Given the description of an element on the screen output the (x, y) to click on. 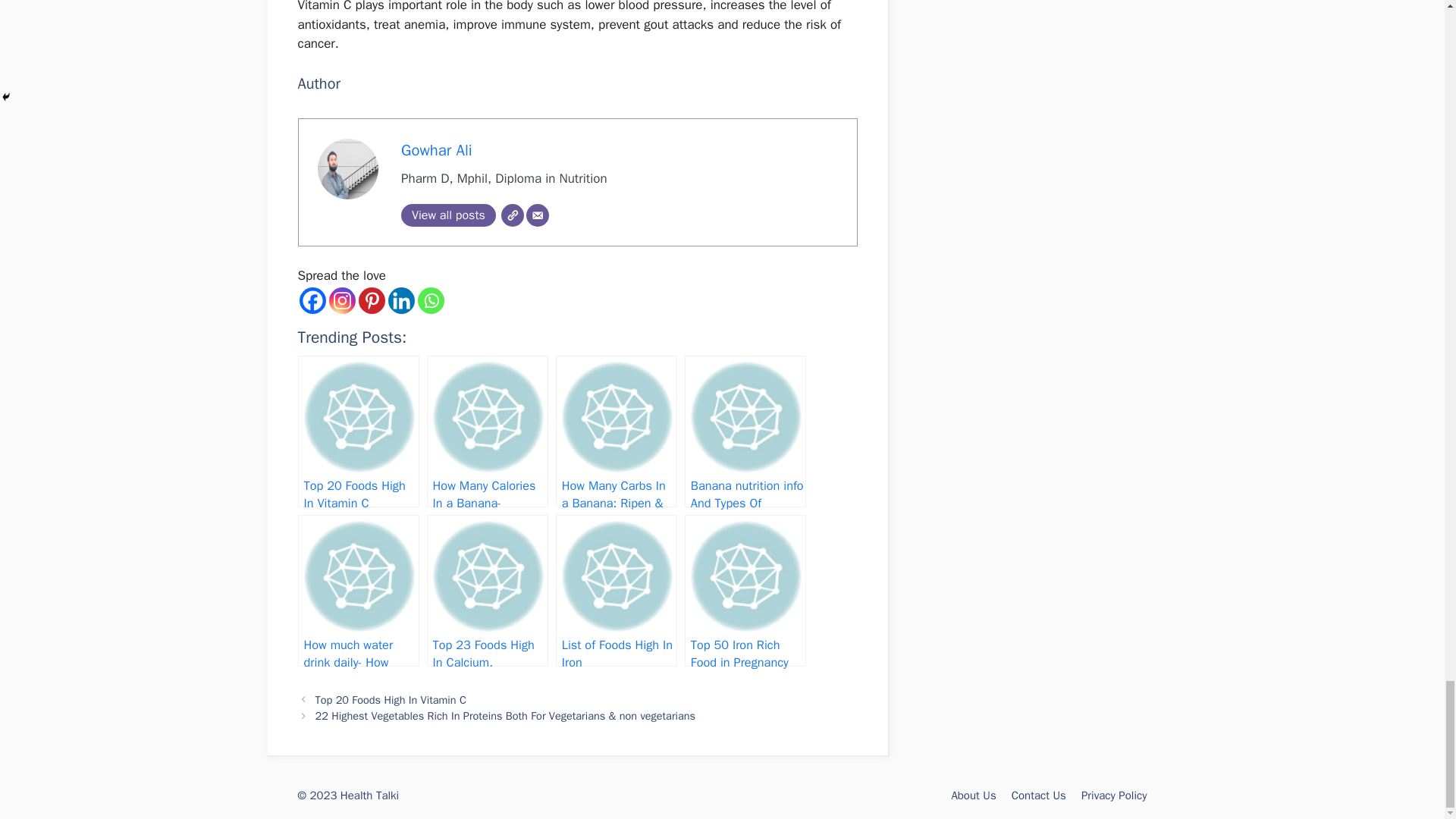
Gowhar Ali (436, 149)
Gowhar Ali (436, 149)
View all posts (448, 214)
Pinterest (371, 300)
About Us (972, 795)
Whatsapp (430, 300)
Contact Us (1038, 795)
Instagram (342, 300)
Facebook (311, 300)
Linkedin (401, 300)
Privacy Policy (1114, 795)
View all posts (448, 214)
Top 20 Foods High In Vitamin C (390, 699)
